Given the description of an element on the screen output the (x, y) to click on. 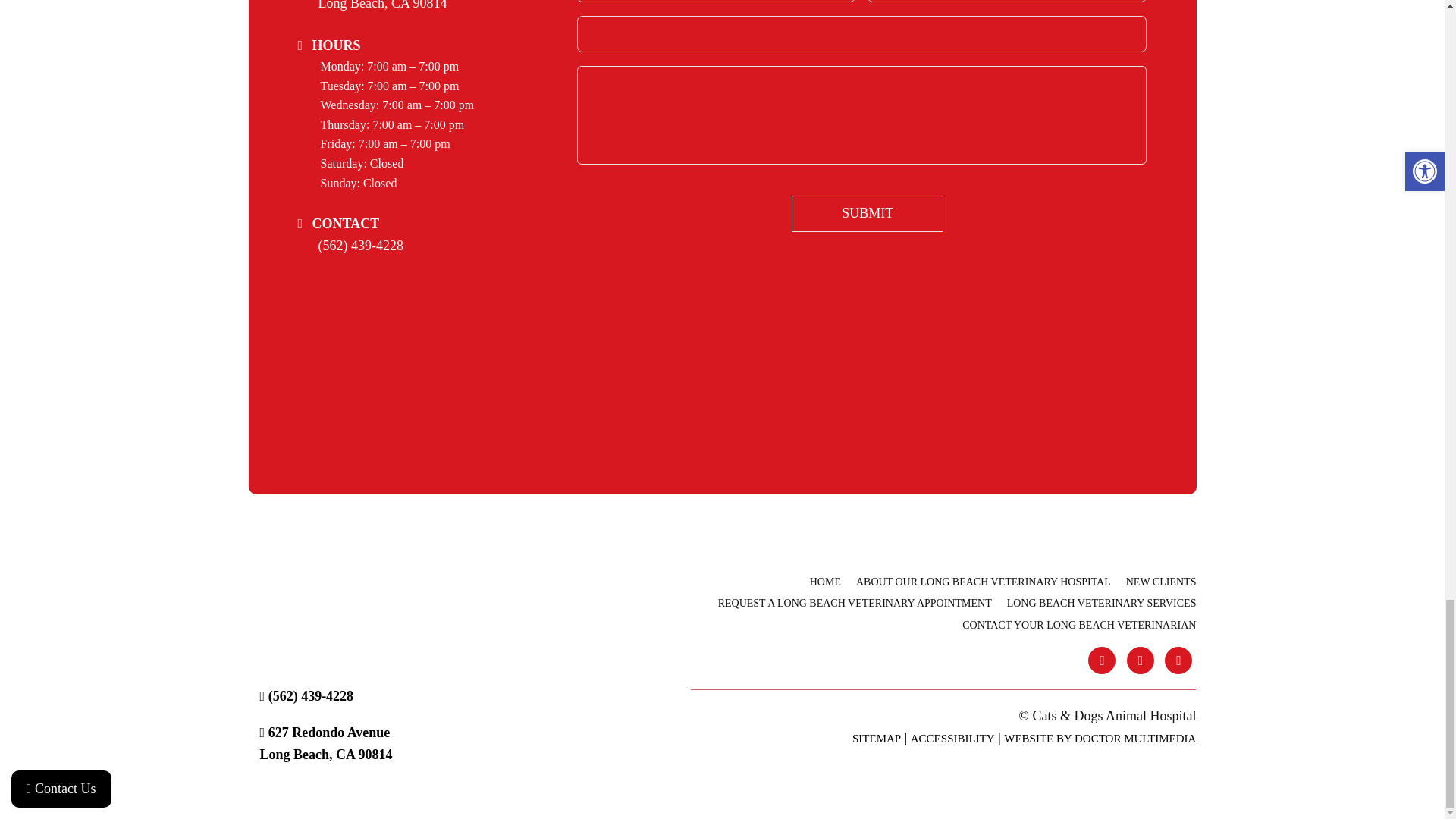
Submit (867, 213)
